Given the description of an element on the screen output the (x, y) to click on. 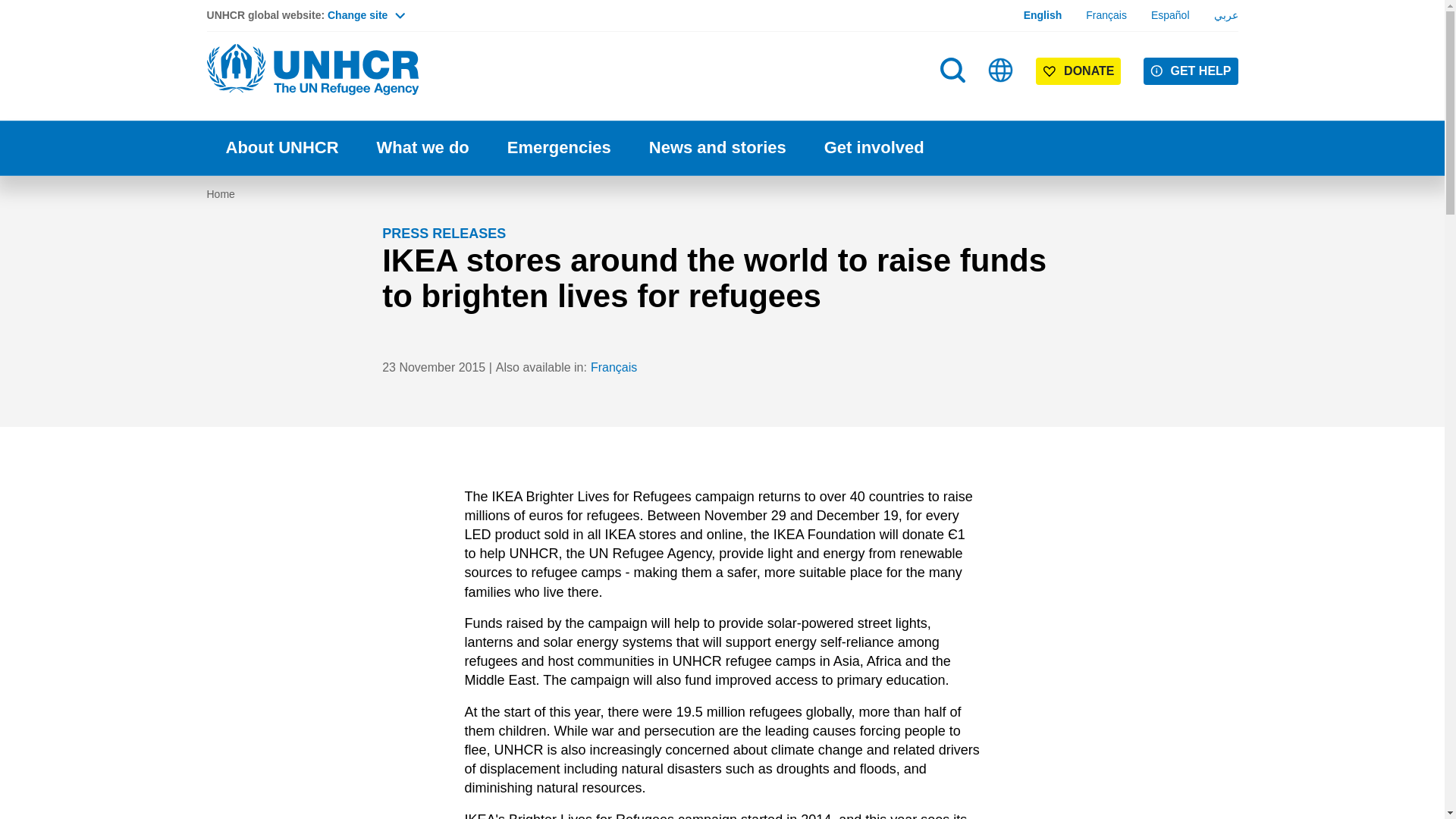
Sites (1000, 69)
Change site (365, 15)
Search (954, 99)
DONATE (1078, 71)
GET HELP (1189, 71)
Skip to main content (721, 1)
Search (952, 69)
About UNHCR (281, 148)
English (1042, 15)
Home (312, 69)
